Given the description of an element on the screen output the (x, y) to click on. 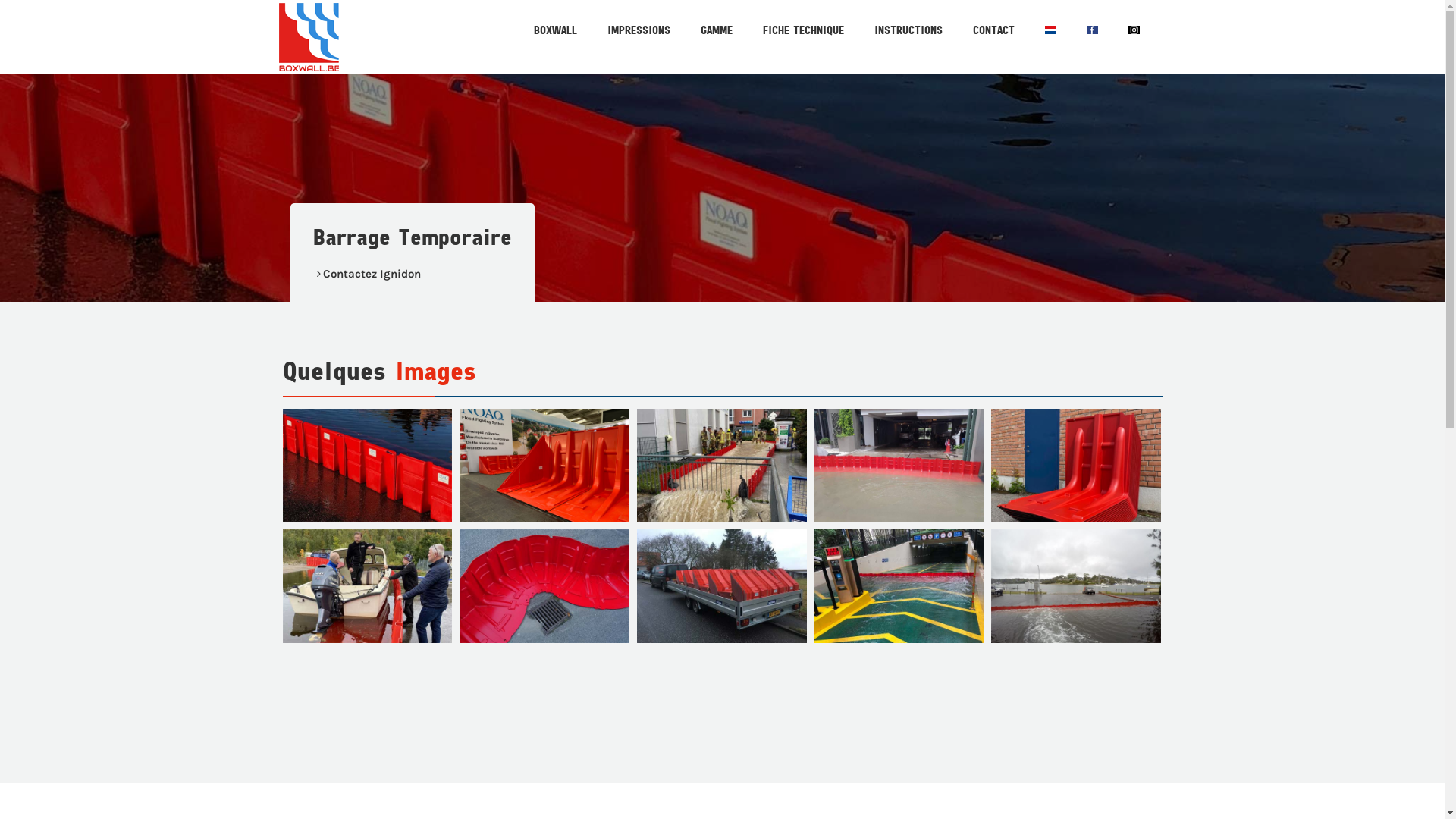
INSTRUCTIONS Element type: text (907, 30)
Contactez Ignidon Element type: text (371, 273)
BOXWALL Element type: text (555, 30)
CONTACT Element type: text (992, 30)
IMPRESSIONS Element type: text (637, 30)
GAMME Element type: text (716, 30)
FICHE TECHNIQUE Element type: text (803, 30)
